Given the description of an element on the screen output the (x, y) to click on. 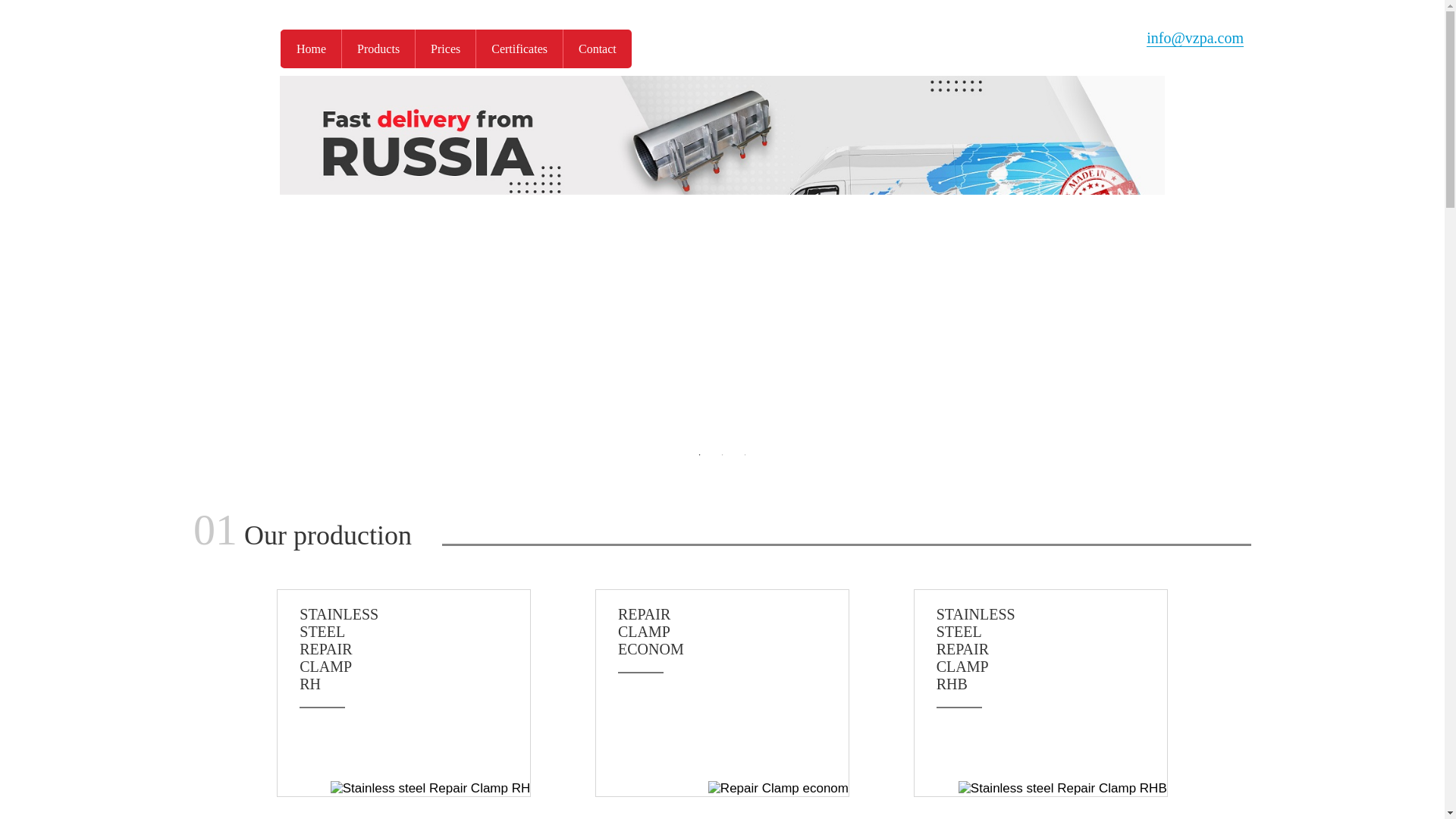
2 (721, 454)
Certificates (519, 48)
Contact (1051, 649)
Home (596, 48)
1 (414, 649)
Products (310, 48)
3 (698, 454)
